Given the description of an element on the screen output the (x, y) to click on. 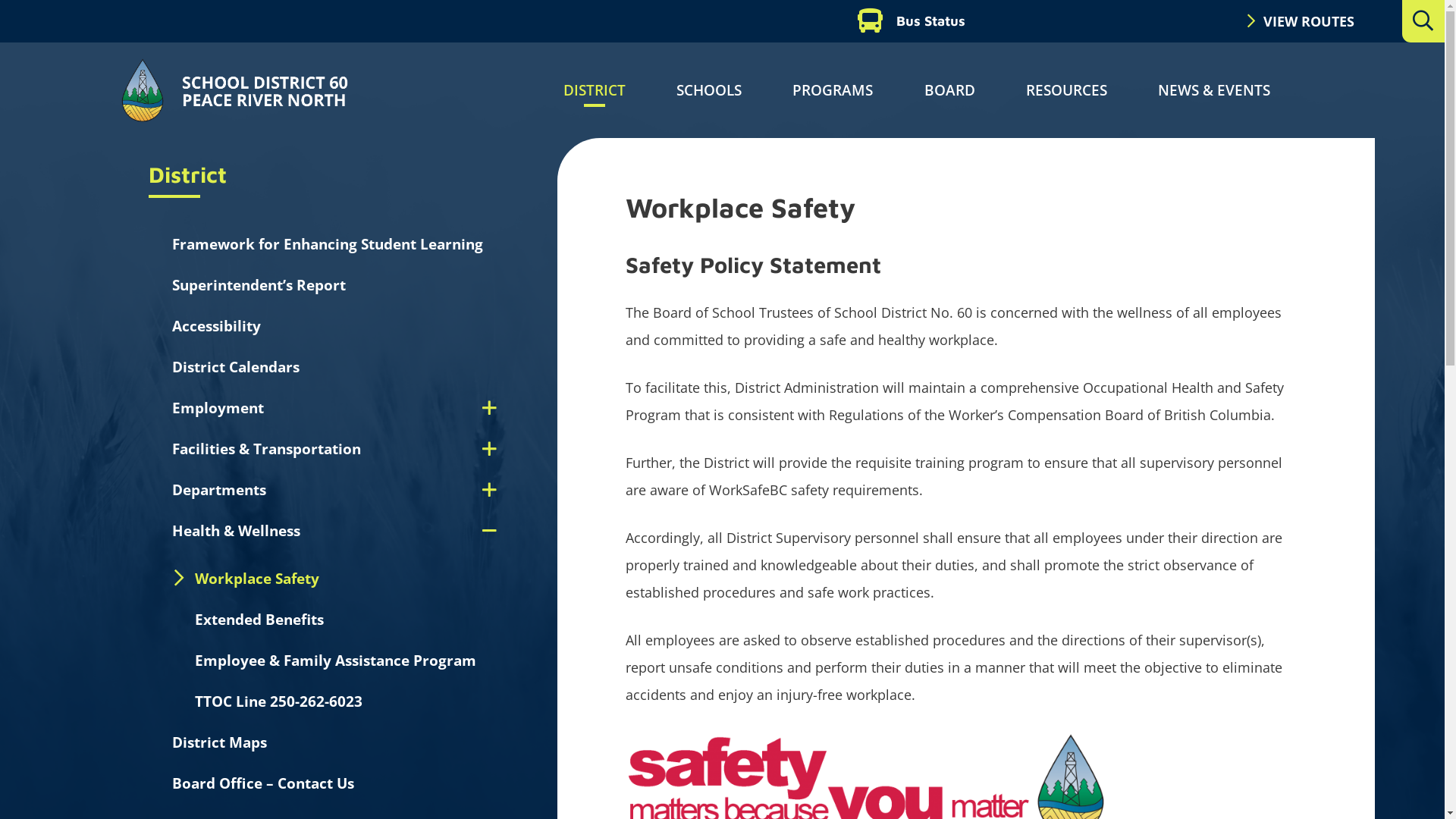
District Calendars Element type: text (235, 366)
Health & Wellness Element type: text (256, 530)
VIEW ROUTES Element type: text (1299, 20)
SCHOOLS Element type: text (708, 90)
BOARD Element type: text (949, 90)
TTOC Line 250-262-6023 Element type: text (278, 701)
PROGRAMS Element type: text (832, 90)
RESOURCES Element type: text (1066, 90)
Framework for Enhancing Student Learning Element type: text (327, 244)
District Element type: text (207, 174)
Employment Element type: text (238, 407)
Accessibility Element type: text (216, 325)
Workplace Safety Element type: text (256, 578)
Departments Element type: text (239, 489)
DISTRICT Element type: text (594, 90)
District Maps Element type: text (219, 742)
Employee & Family Assistance Program Element type: text (335, 660)
Facilities & Transportation Element type: text (286, 448)
Extended Benefits Element type: text (258, 619)
NEWS & EVENTS Element type: text (1213, 90)
